Given the description of an element on the screen output the (x, y) to click on. 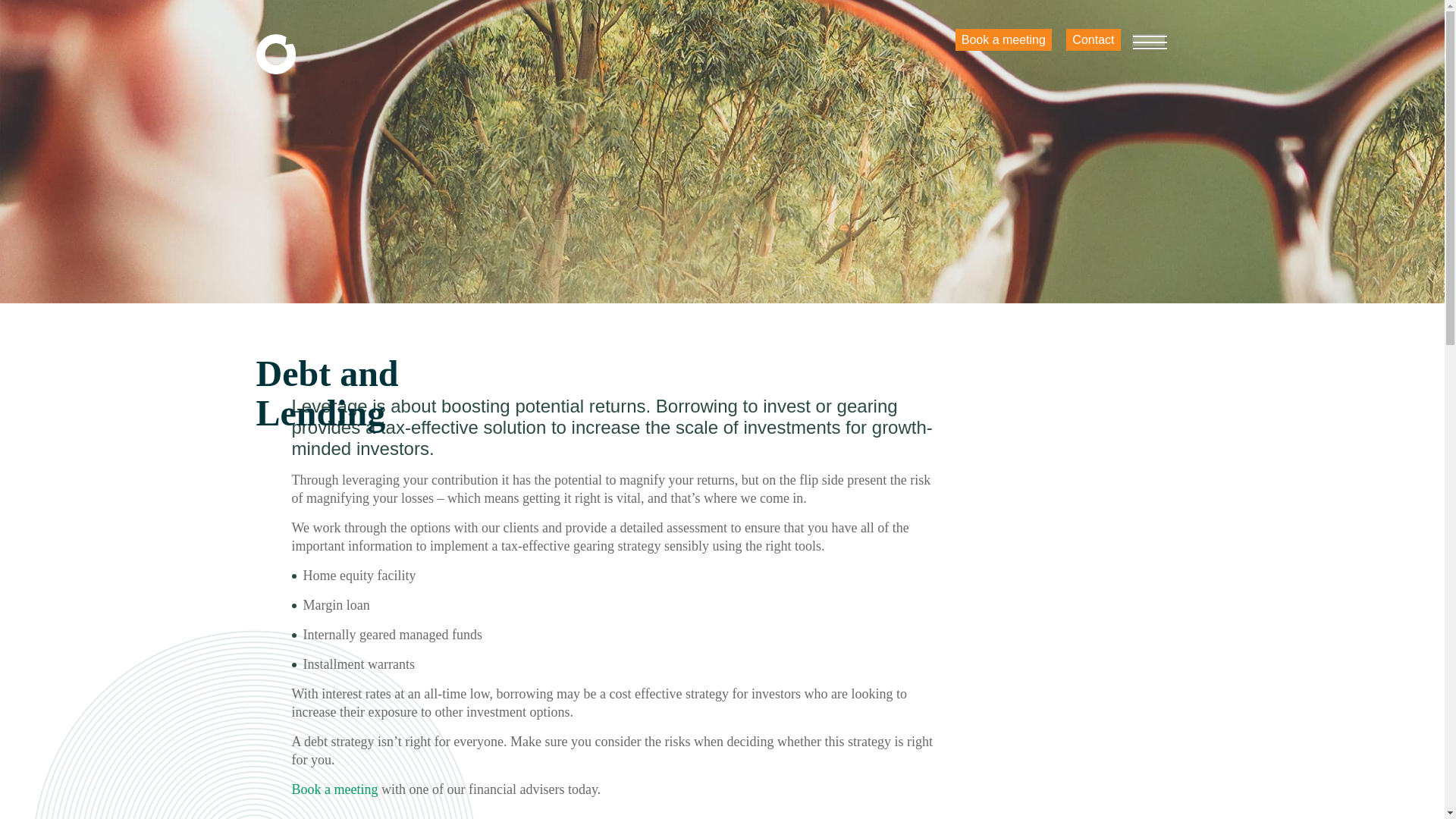
Book a meeting (334, 789)
Contact (1092, 39)
Book a meeting (1003, 39)
